Given the description of an element on the screen output the (x, y) to click on. 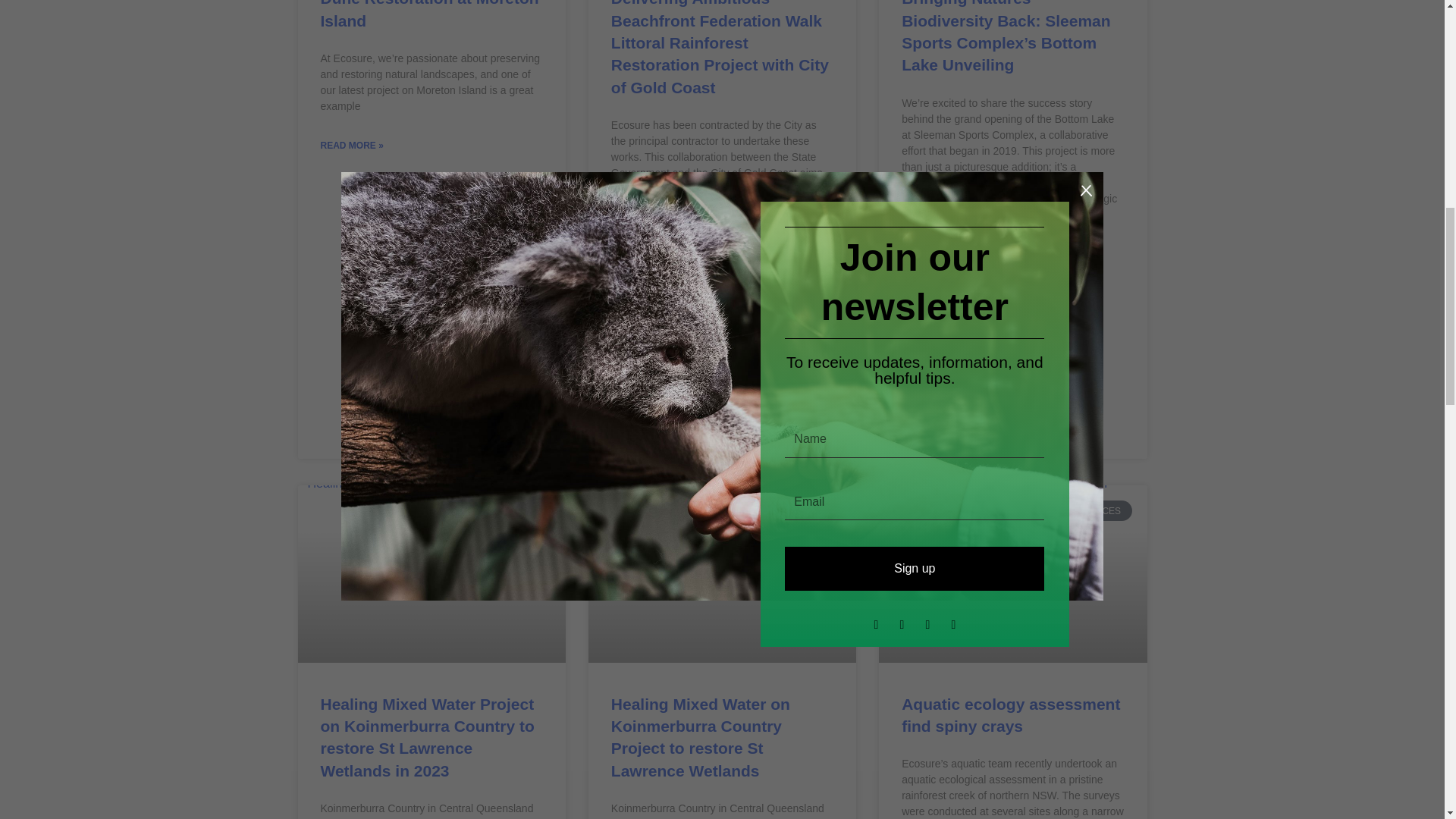
Projects 8 (429, 572)
Projects 10 (720, 572)
Projects 12 (1010, 572)
